Given the description of an element on the screen output the (x, y) to click on. 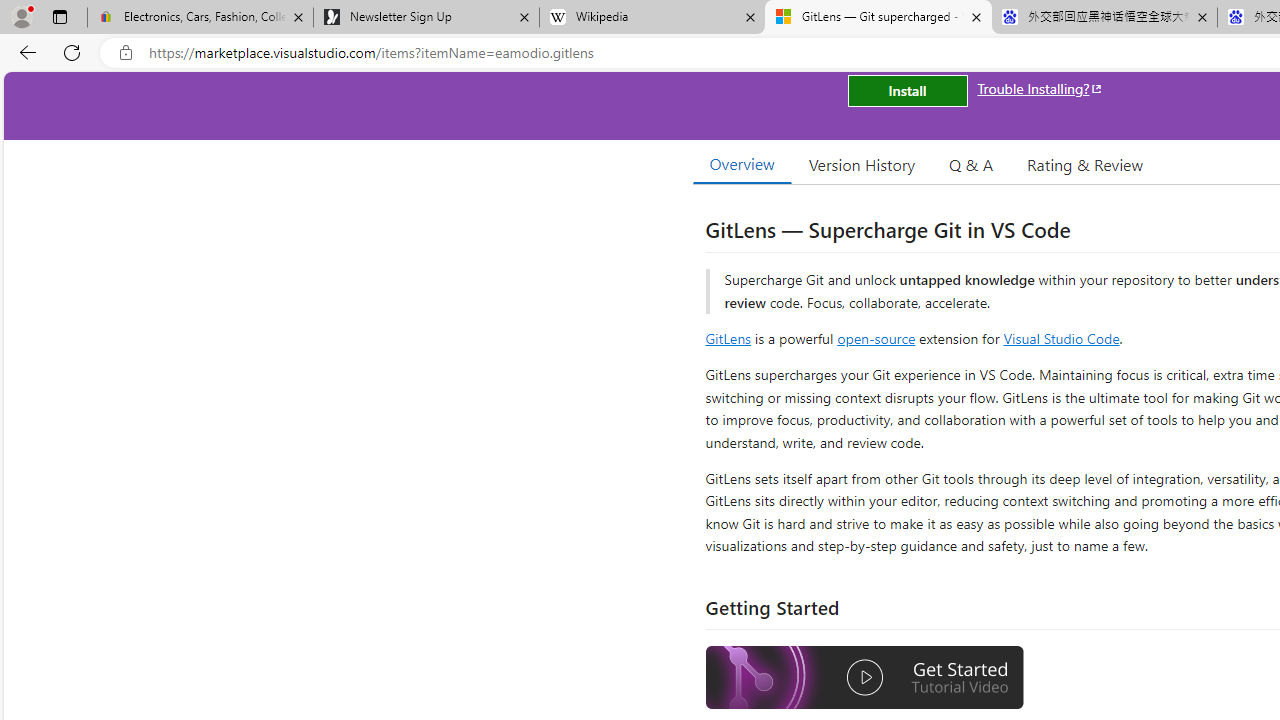
open-source (876, 337)
Version History (862, 164)
Visual Studio Code (1061, 337)
